Given the description of an element on the screen output the (x, y) to click on. 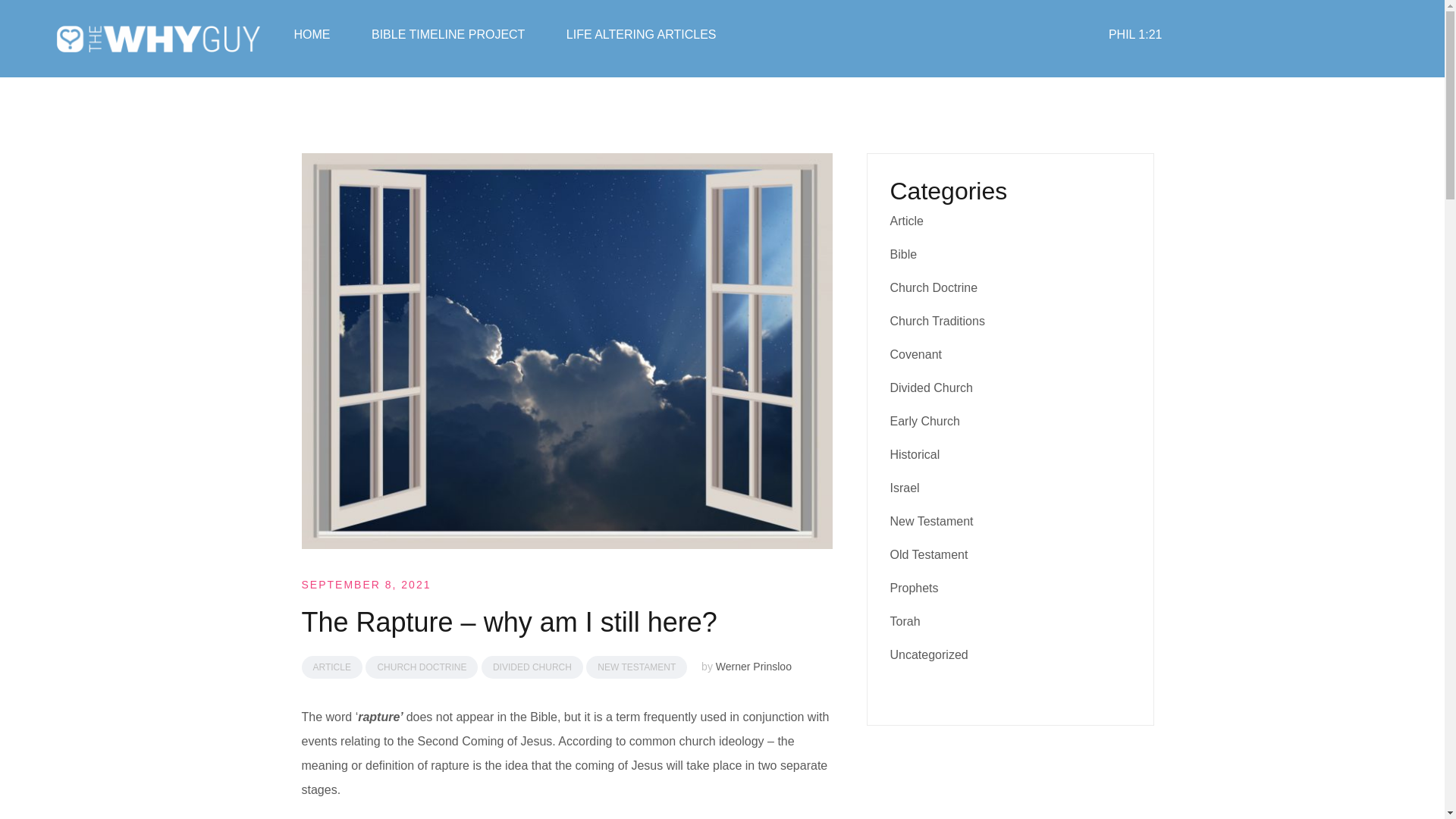
BIBLE TIMELINE PROJECT (447, 34)
Covenant (915, 354)
ARTICLE (331, 667)
CHURCH DOCTRINE (421, 667)
Israel (904, 487)
Divided Church (930, 387)
Bible (903, 254)
Early Church (924, 420)
Church Doctrine (933, 287)
Prophets (914, 587)
HOME (312, 34)
Church Traditions (937, 320)
Historical (914, 454)
New Testament (931, 521)
Old Testament (928, 554)
